Given the description of an element on the screen output the (x, y) to click on. 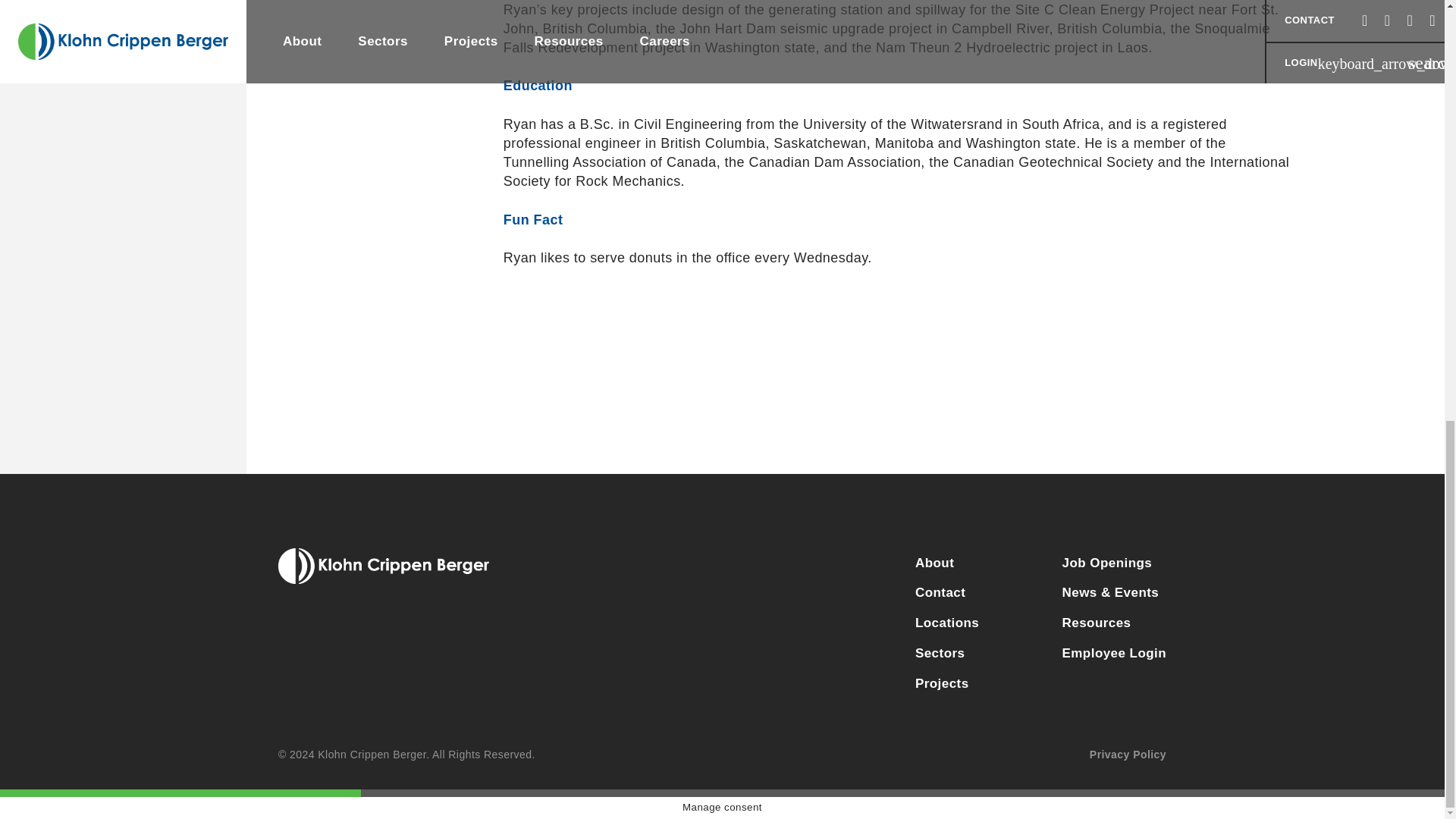
Contact (967, 593)
Locations (967, 623)
About (967, 562)
